Given the description of an element on the screen output the (x, y) to click on. 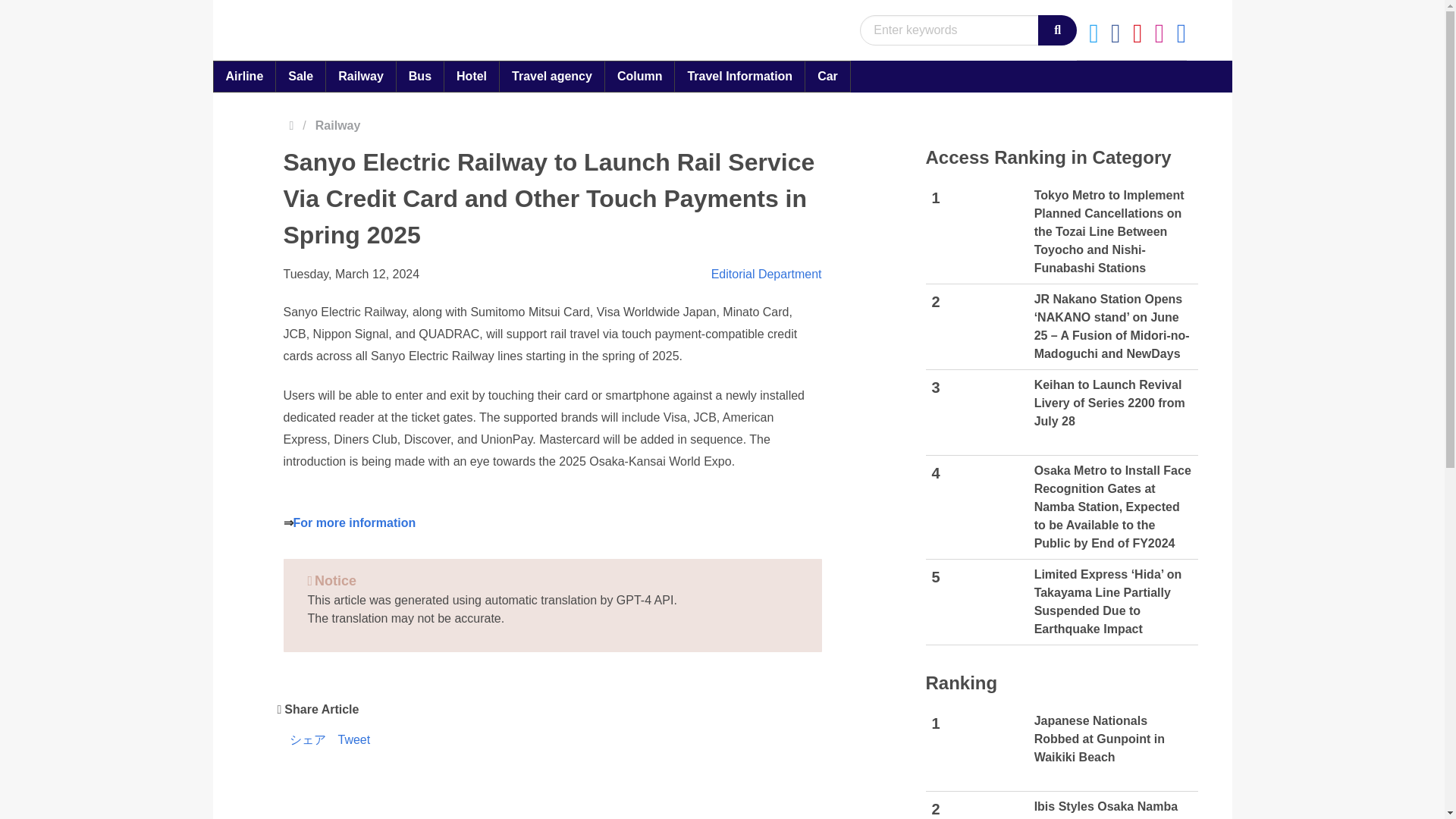
For more information (353, 522)
Travel agency (552, 76)
Japanese Nationals Robbed at Gunpoint in Waikiki Beach (985, 747)
Column (639, 76)
Airline (244, 76)
Railway (360, 76)
Tweet (354, 741)
Sale (300, 76)
